Given the description of an element on the screen output the (x, y) to click on. 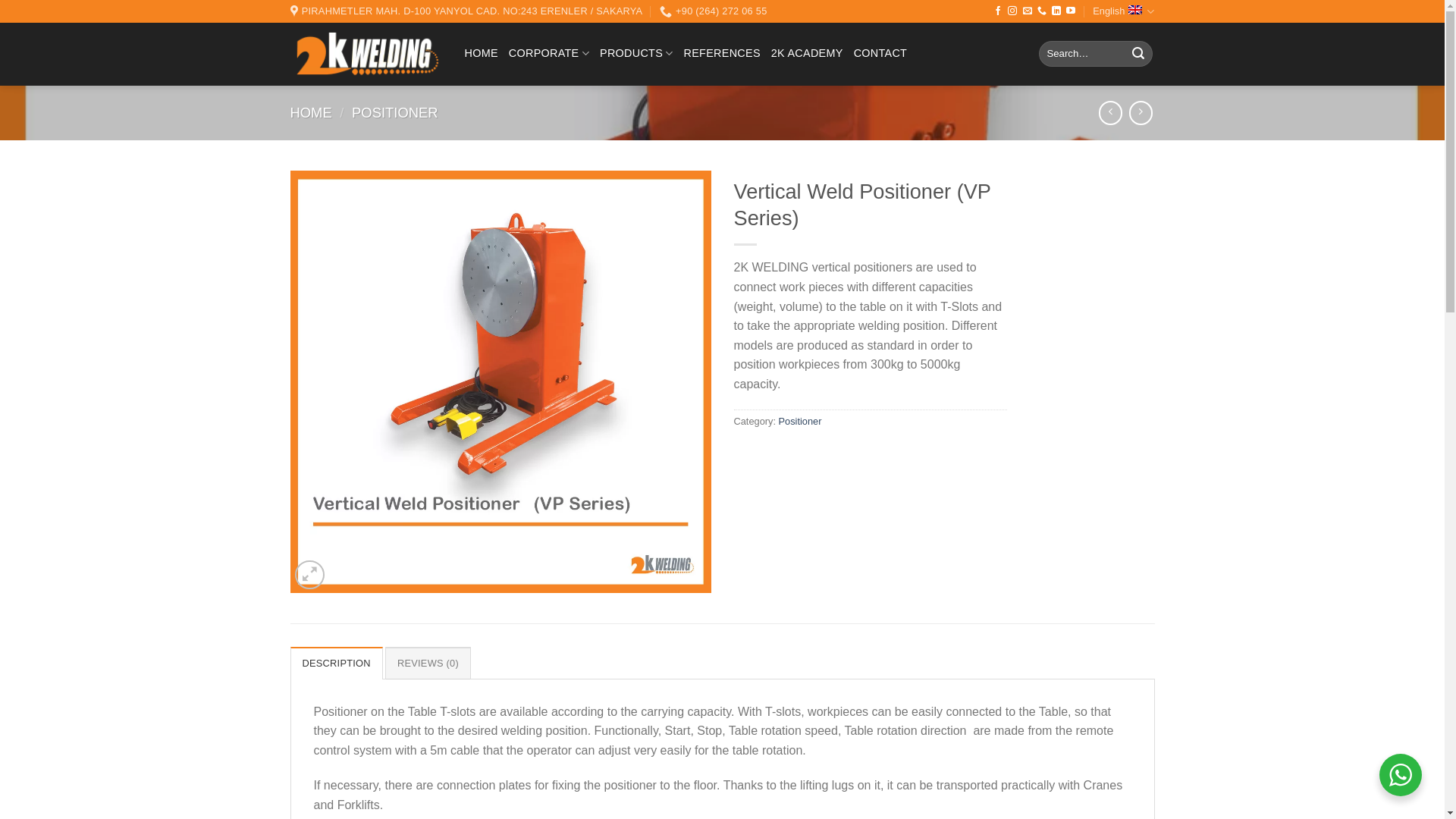
Call us Element type: hover (1041, 11)
Follow on Instagram Element type: hover (1011, 11)
Positioner Element type: text (800, 420)
Send us an email Element type: hover (1027, 11)
HOME Element type: text (480, 53)
HOME Element type: text (310, 112)
PRODUCTS Element type: text (636, 53)
Skip to content Element type: text (0, 0)
Vertical-Weld-Positioner-(VP-Series)-EN Element type: hover (499, 381)
English Element type: text (1123, 11)
Follow on YouTube Element type: hover (1070, 11)
+90 (264) 272 06 55 Element type: text (713, 11)
2K ACADEMY Element type: text (807, 53)
REFERENCES Element type: text (722, 53)
CONTACT Element type: text (880, 53)
Search Element type: text (1138, 53)
Follow on LinkedIn Element type: hover (1055, 11)
2k Welding - Your Solution Partner Element type: hover (365, 54)
DESCRIPTION Element type: text (335, 662)
REVIEWS (0) Element type: text (427, 662)
Zoom Element type: hover (309, 574)
CORPORATE Element type: text (548, 53)
POSITIONER Element type: text (394, 112)
PIRAHMETLER MAH. D-100 YANYOL CAD. NO:243 ERENLER / SAKARYA Element type: text (465, 11)
Follow on Facebook Element type: hover (997, 11)
